Given the description of an element on the screen output the (x, y) to click on. 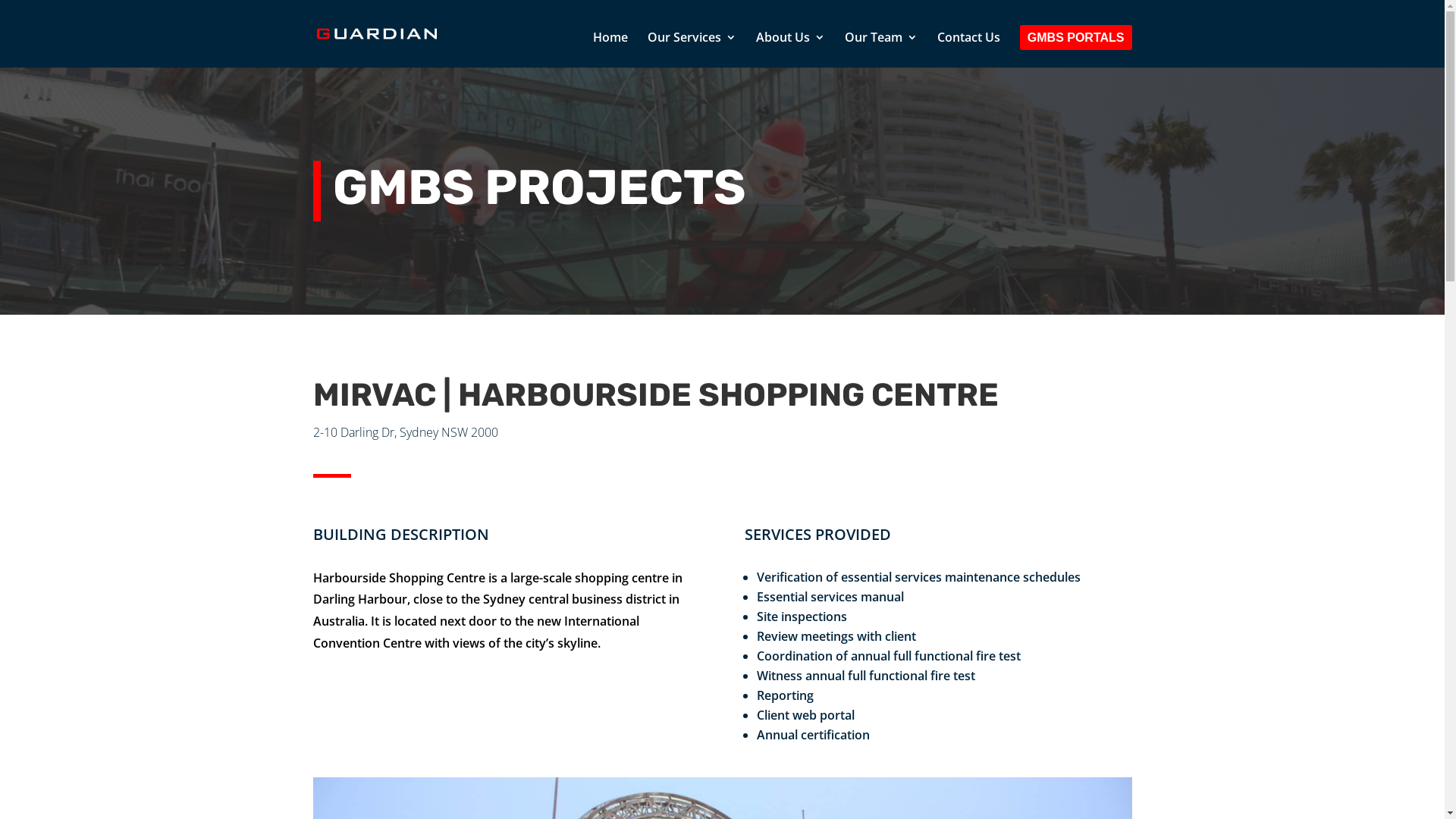
Home Element type: text (610, 49)
Contact Us Element type: text (968, 49)
GMBS PORTALS Element type: text (1075, 50)
About Us Element type: text (790, 49)
Our Team Element type: text (880, 49)
Our Services Element type: text (691, 49)
